Given the description of an element on the screen output the (x, y) to click on. 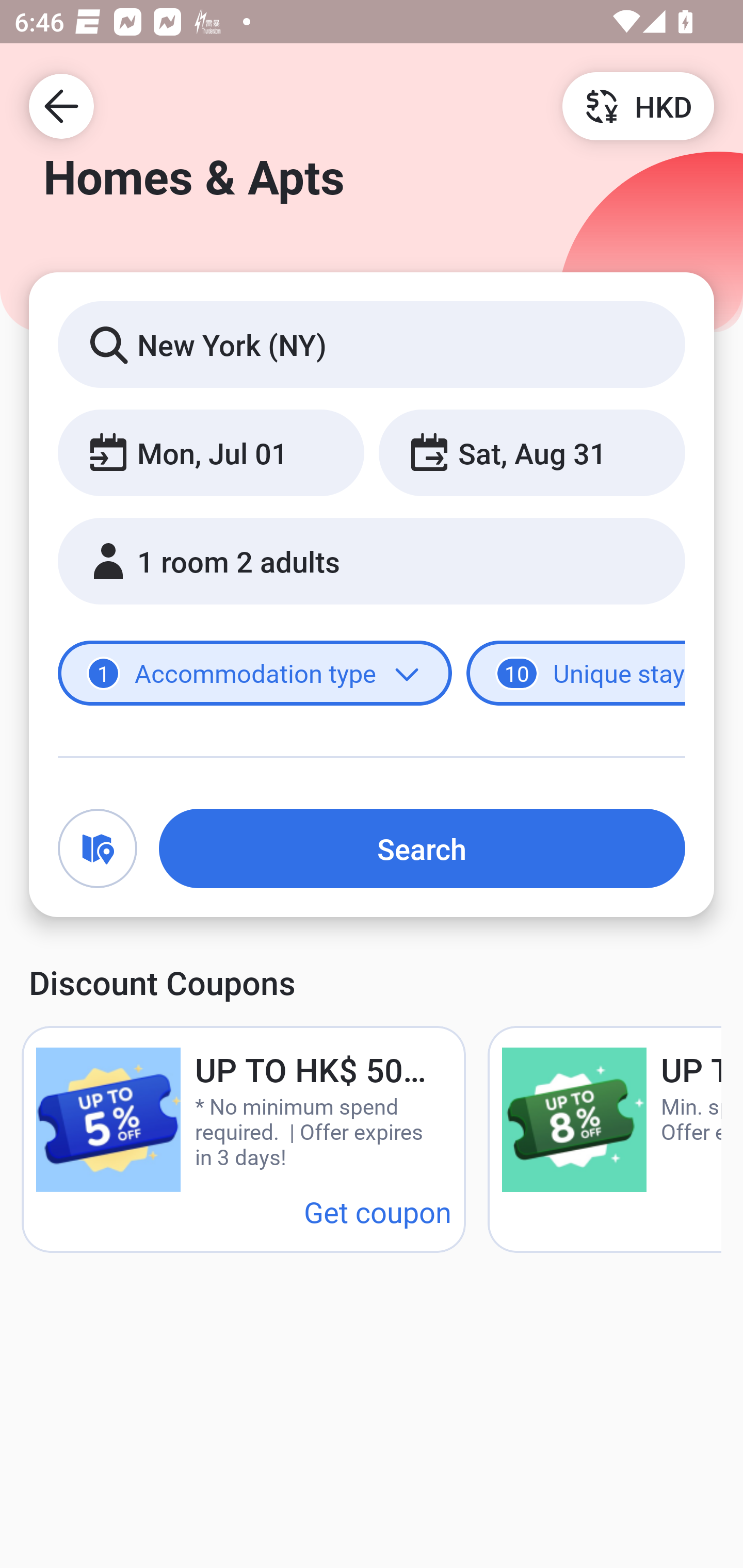
HKD (638, 105)
New York (NY) (371, 344)
Mon, Jul 01 (210, 452)
Sat, Aug 31 (531, 452)
1 room 2 adults (371, 561)
1 Accommodation type (254, 673)
10 Unique stays (575, 673)
Search (422, 848)
Get coupon (377, 1211)
